Given the description of an element on the screen output the (x, y) to click on. 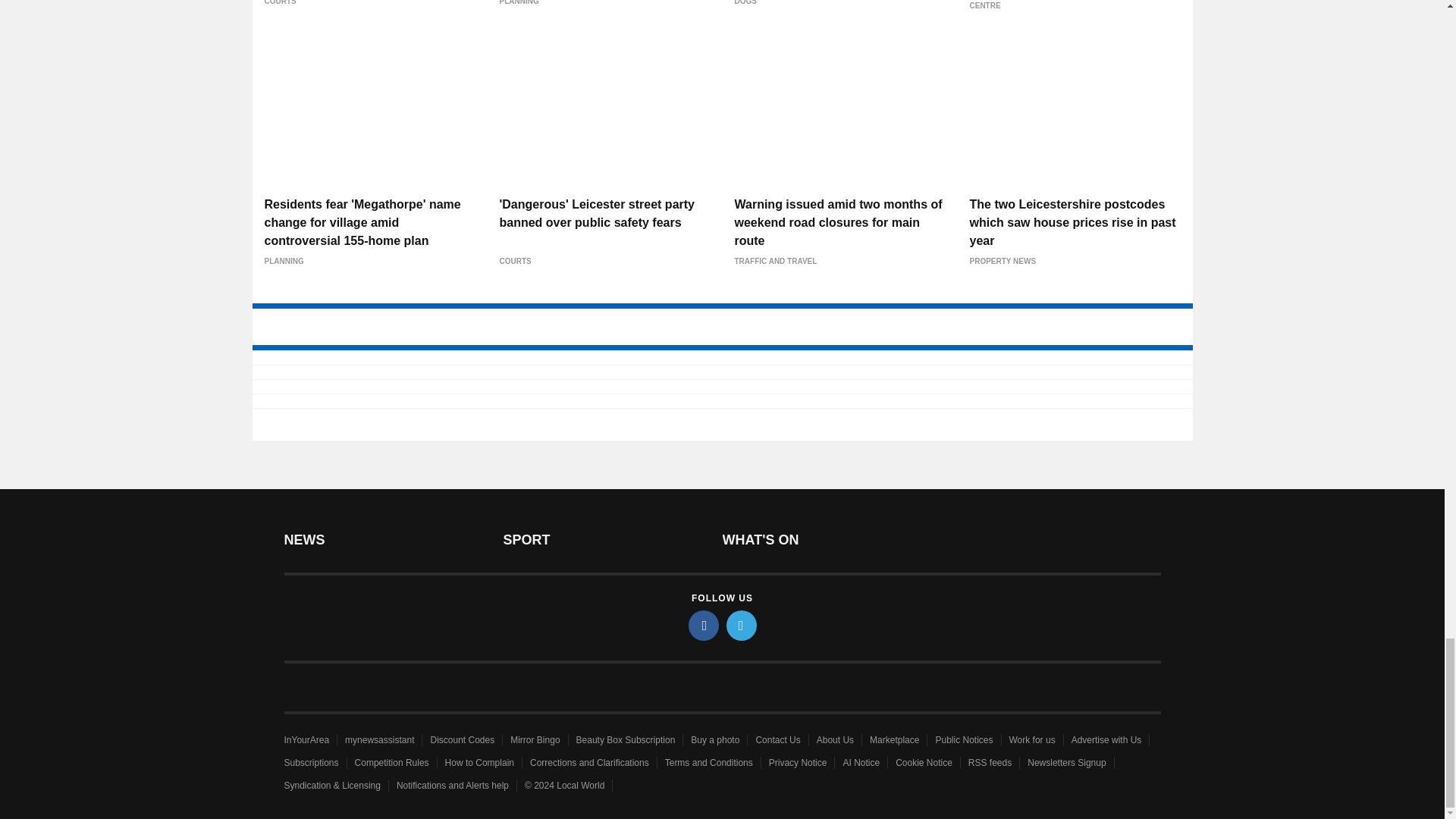
twitter (741, 625)
facebook (703, 625)
